Given the description of an element on the screen output the (x, y) to click on. 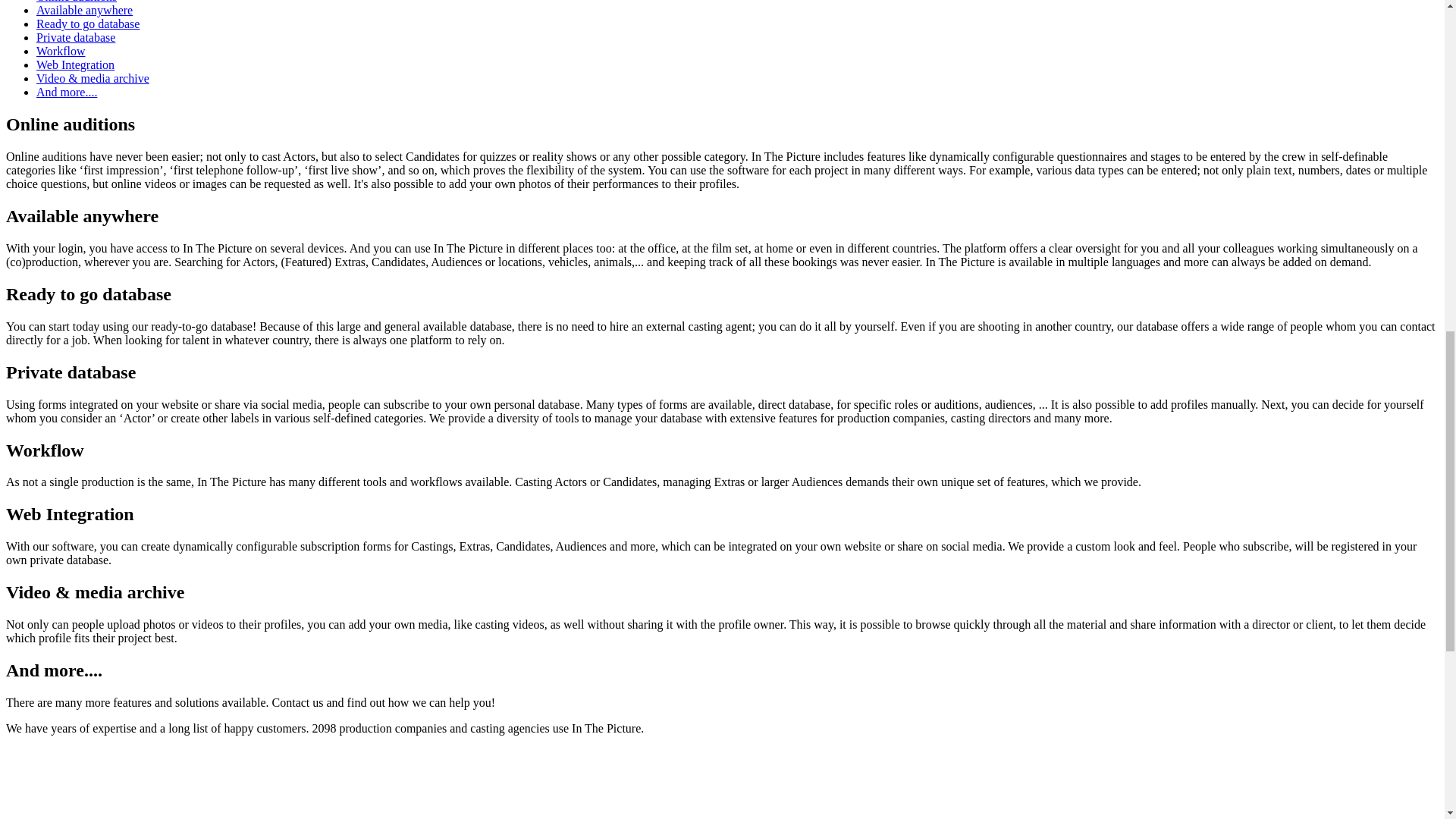
Online auditions (76, 1)
Ready to go database (87, 23)
Available anywhere (84, 10)
